Given the description of an element on the screen output the (x, y) to click on. 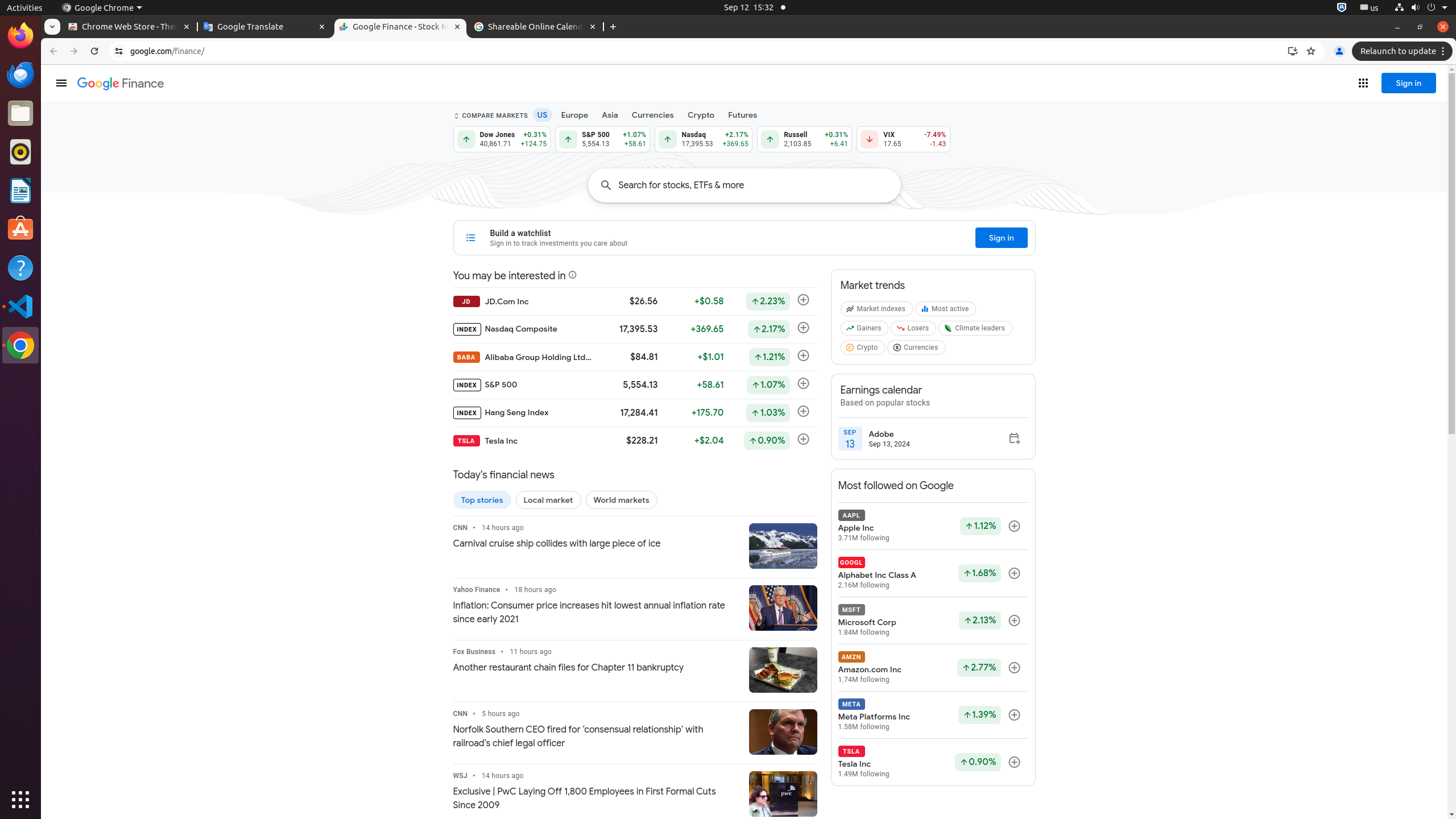
Files Element type: push-button (20, 113)
Help Element type: push-button (20, 267)
Google Chrome Element type: menu (101, 7)
Europe Element type: page-tab (574, 114)
US Element type: page-tab (542, 114)
